Given the description of an element on the screen output the (x, y) to click on. 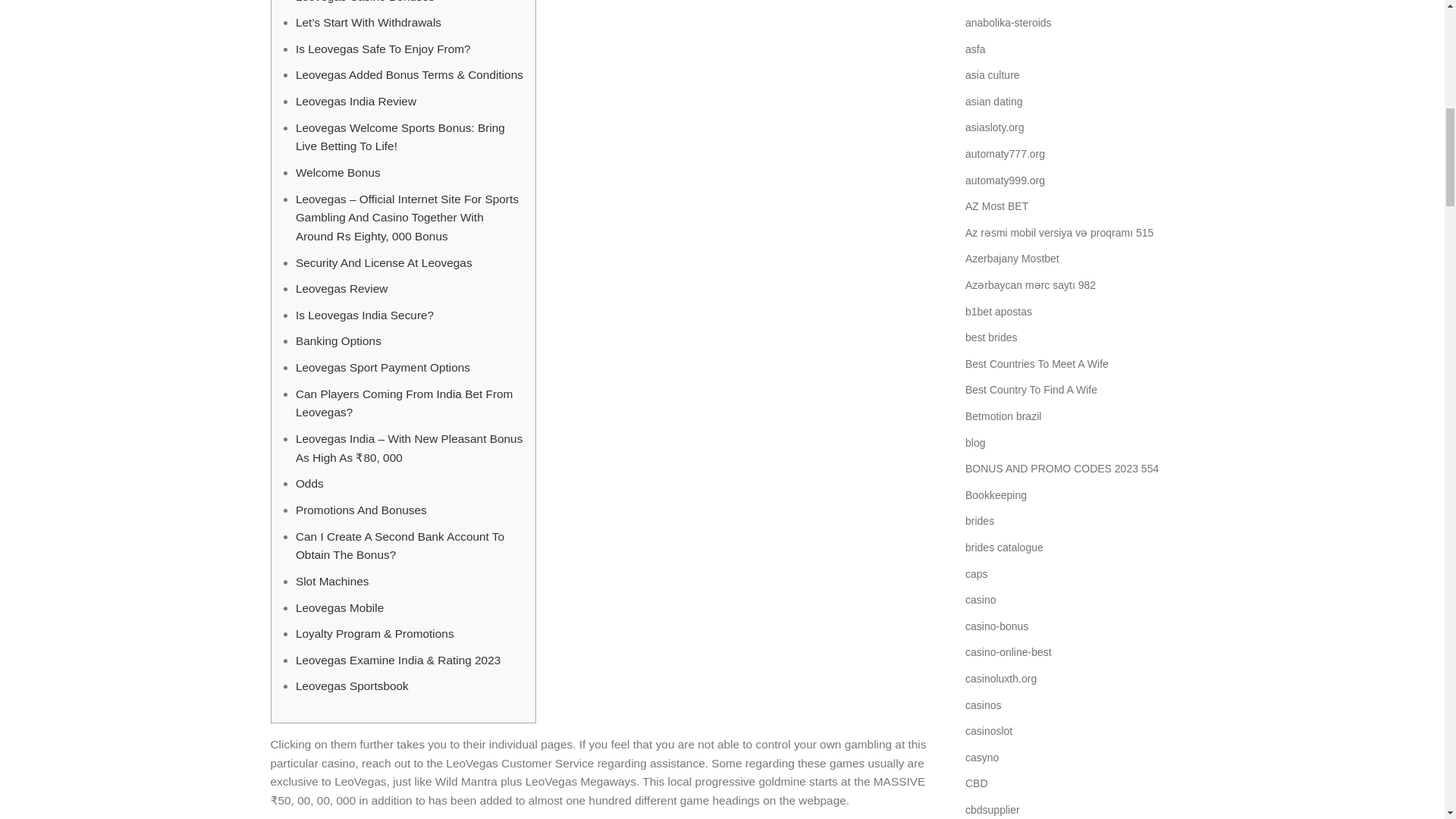
Leovegas Casino Bonuses (364, 1)
